Given the description of an element on the screen output the (x, y) to click on. 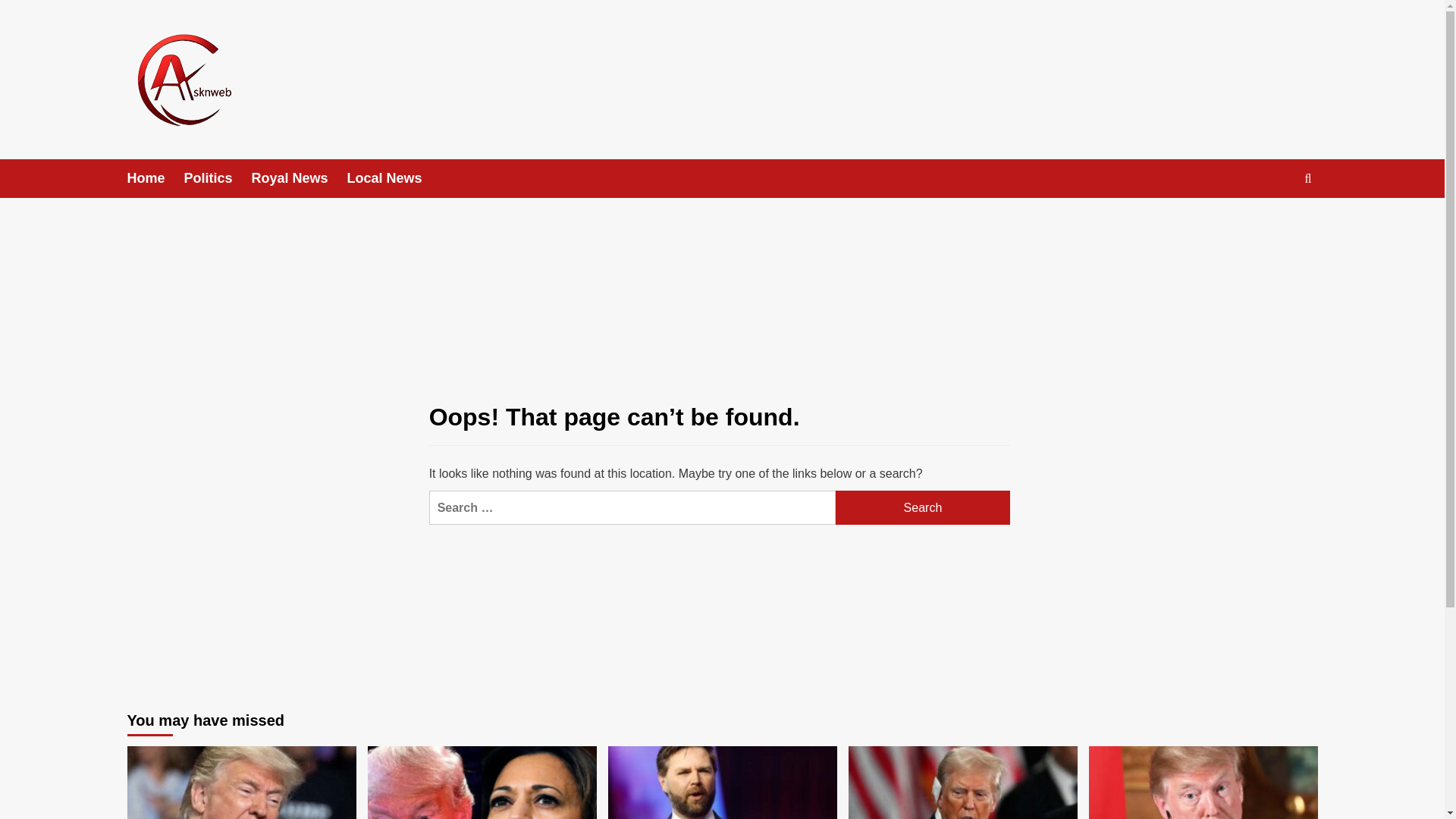
Search (922, 507)
Search (1272, 224)
Search (922, 507)
Home (156, 178)
Royal News (299, 178)
Politics (217, 178)
Local News (394, 178)
Search (922, 507)
